Given the description of an element on the screen output the (x, y) to click on. 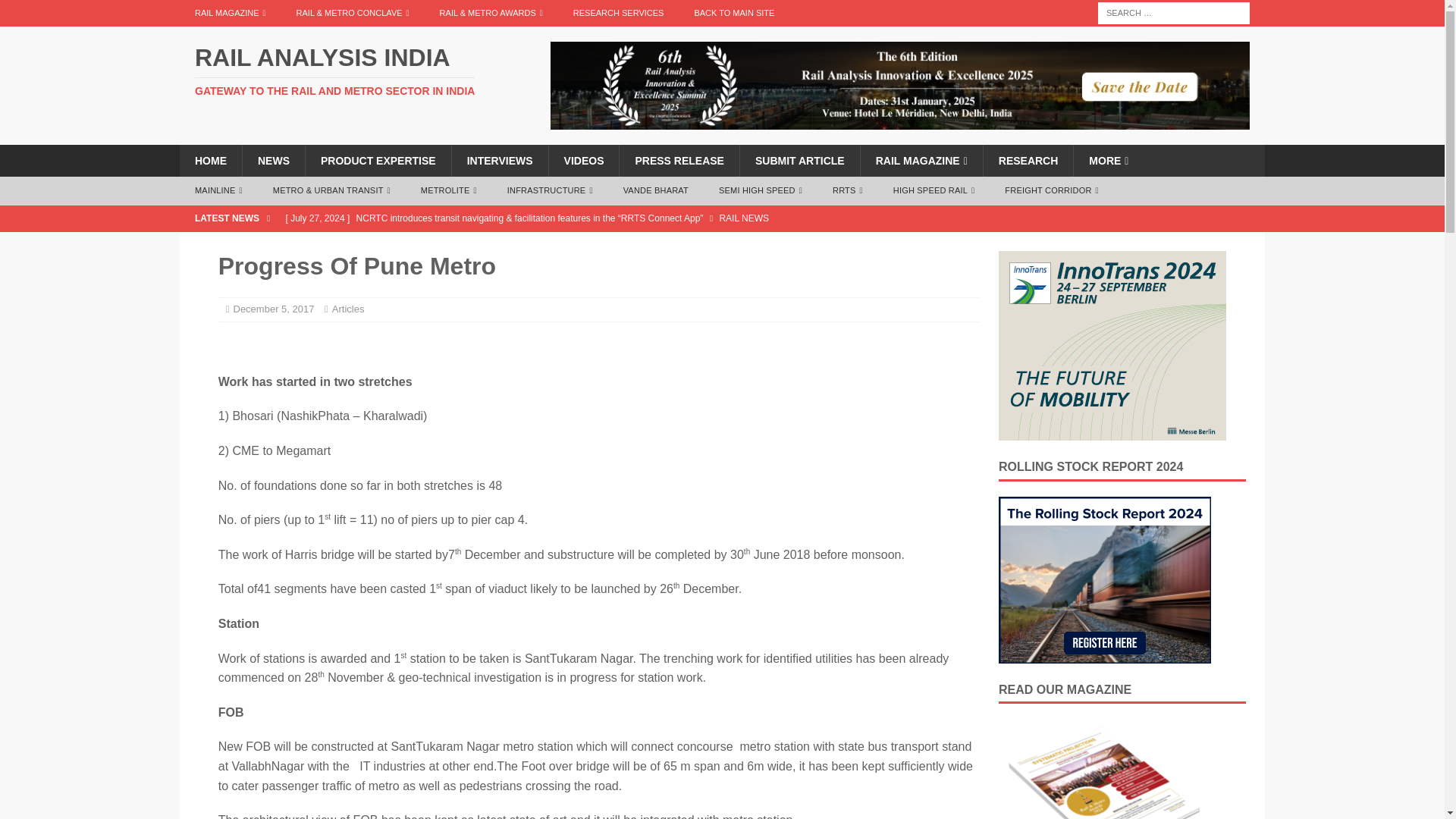
Rail Analysis India (351, 71)
RAIL MAGAZINE (230, 13)
Upcoming Event (1111, 345)
RESEARCH SERVICES (618, 13)
Search (56, 11)
BACK TO MAIN SITE (733, 13)
